Given the description of an element on the screen output the (x, y) to click on. 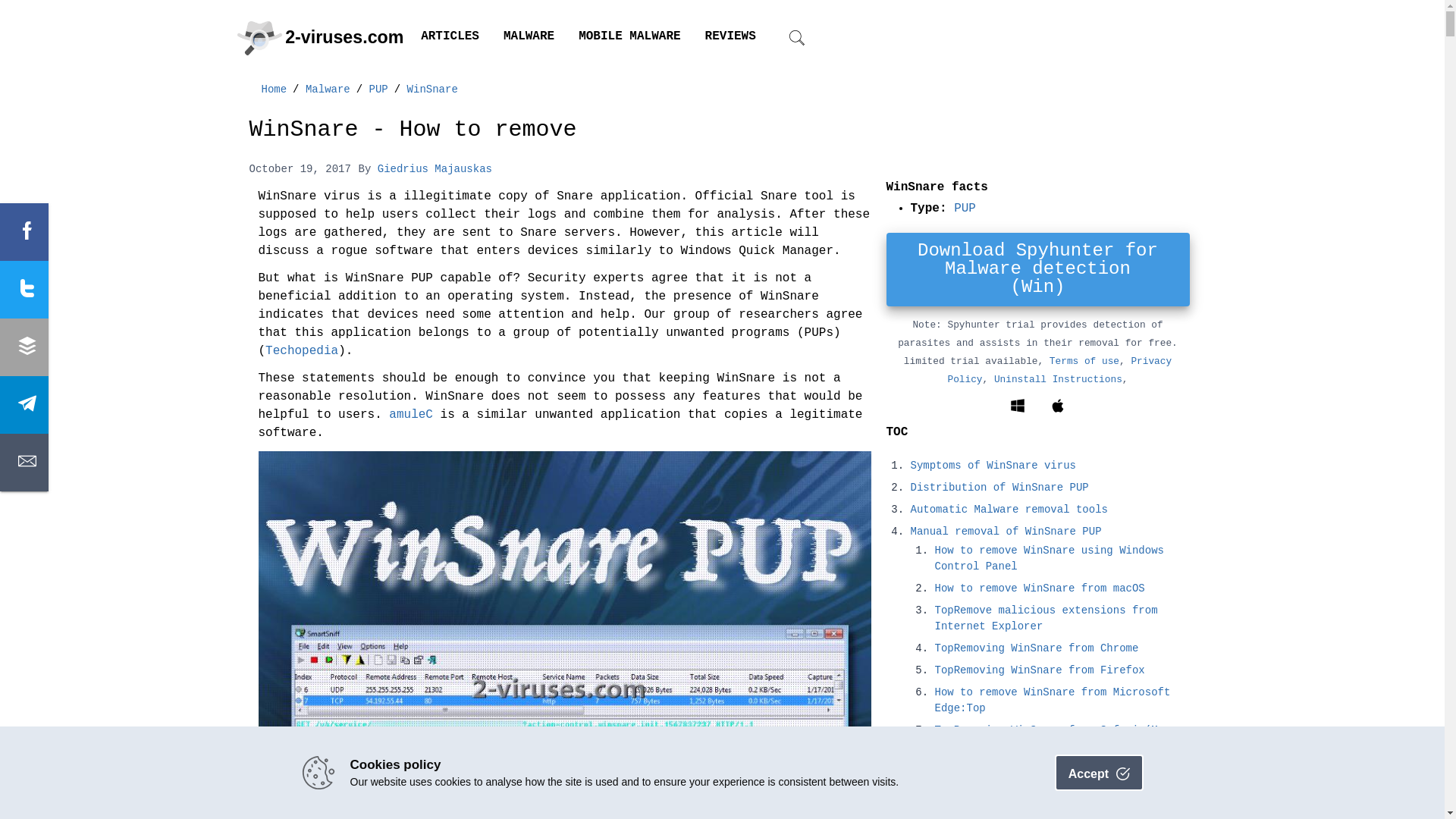
  Element type: text (24, 347)
  Element type: text (24, 404)
MALWARE Element type: text (528, 36)
Distribution of WinSnare PUP Element type: text (999, 486)
TopRemoving WinSnare from Firefox Element type: text (1039, 670)
  Element type: text (24, 289)
  Element type: text (24, 462)
TopRemoving WinSnare from Safari (Mac OS X) Element type: text (1052, 737)
PUP Element type: text (378, 89)
Manual removal of WinSnare PUP Element type: text (1005, 530)
Automatic Malware removal tools Element type: text (1008, 509)
Home Element type: text (273, 89)
How to remove WinSnare from Microsoft Edge:Top Element type: text (1052, 699)
TopRemove malicious extensions from Internet Explorer Element type: text (1045, 617)
Techopedia Element type: text (301, 351)
WinSnare Element type: text (432, 89)
Accept Element type: text (1098, 772)
Symptoms of WinSnare virus Element type: text (992, 465)
  Element type: text (24, 231)
How to remove WinSnare from macOS Element type: text (1039, 588)
Privacy Policy Element type: text (1059, 369)
Giedrius Majauskas Element type: text (434, 168)
Uninstall Instructions Element type: text (1058, 379)
ARTICLES Element type: text (449, 36)
How to remove WinSnare using Windows Control Panel Element type: text (1048, 558)
Terms of use Element type: text (1084, 360)
PUP Element type: text (964, 208)
Search Element type: text (767, 433)
REVIEWS Element type: text (730, 36)
TopRemoving WinSnare from Chrome Element type: text (1036, 647)
Download Spyhunter for Malware detection
(Win) Element type: text (1037, 268)
amuleC Element type: text (411, 414)
MOBILE MALWARE Element type: text (629, 36)
Malware Element type: text (327, 89)
